Given the description of an element on the screen output the (x, y) to click on. 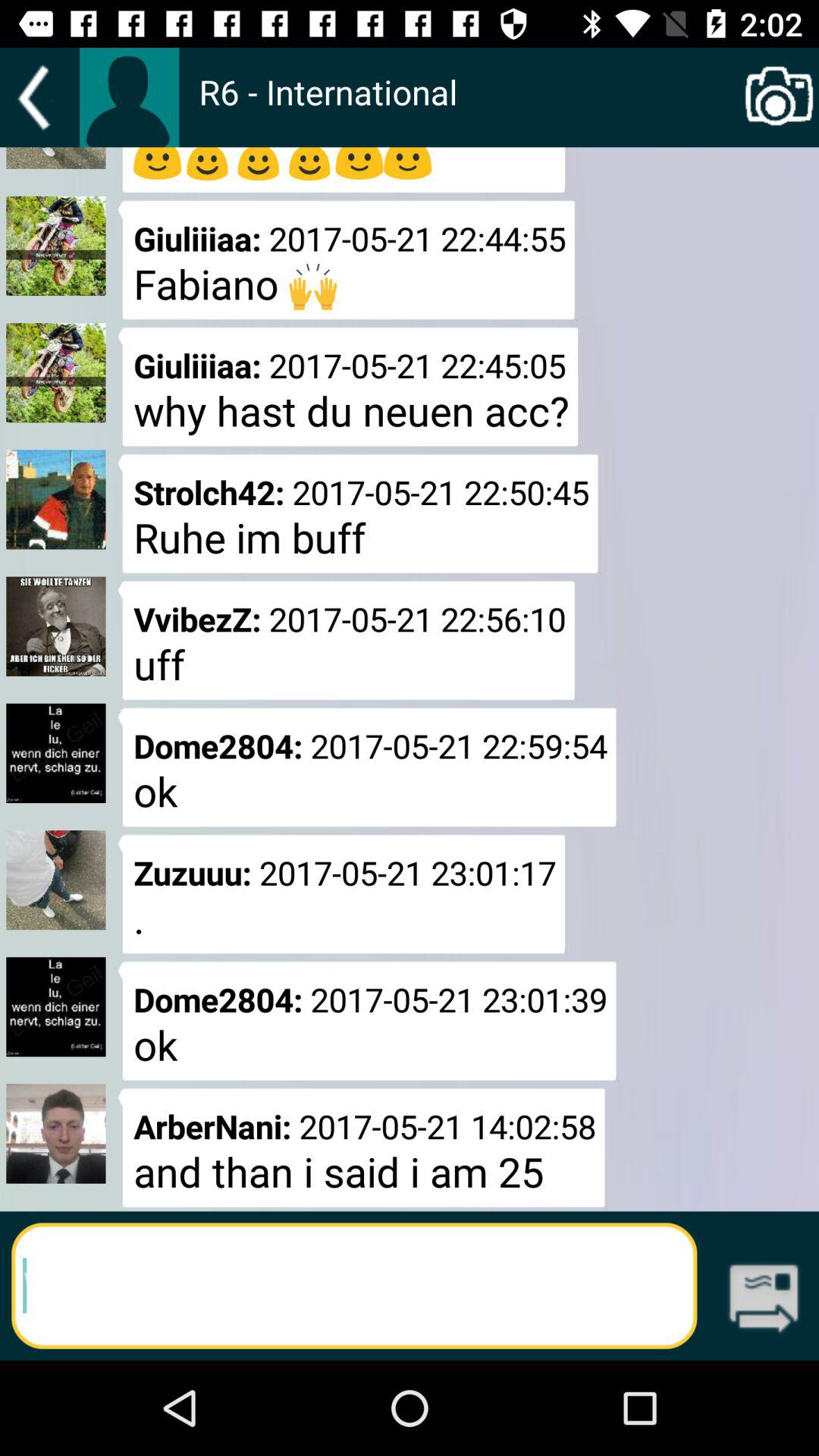
turn on the icon below the r6 - international app (763, 1300)
